Given the description of an element on the screen output the (x, y) to click on. 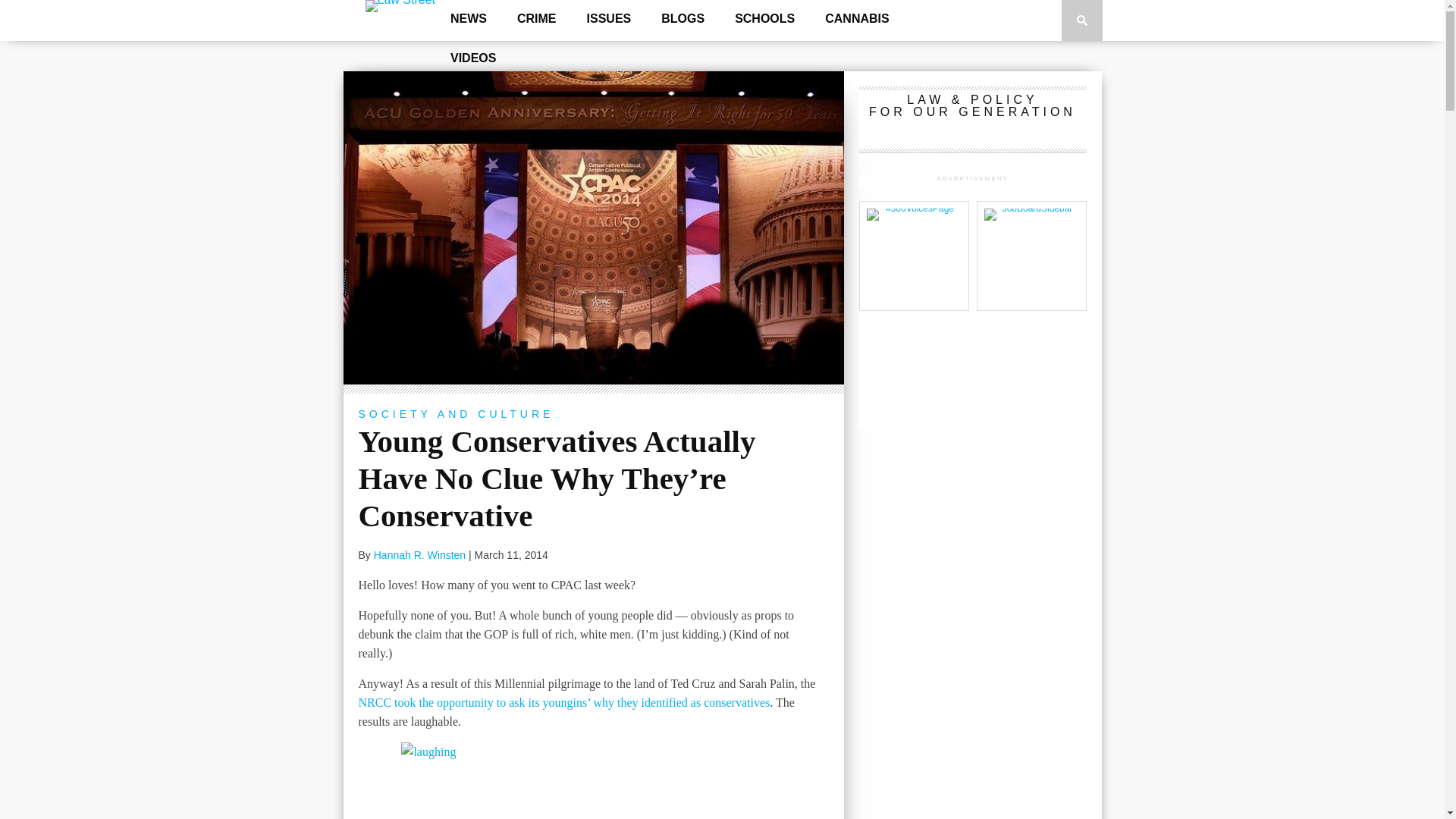
BLOGS (682, 19)
Issues (609, 19)
News (468, 19)
NEWS (468, 19)
ISSUES (609, 19)
CRIME (537, 19)
Crime (537, 19)
